Given the description of an element on the screen output the (x, y) to click on. 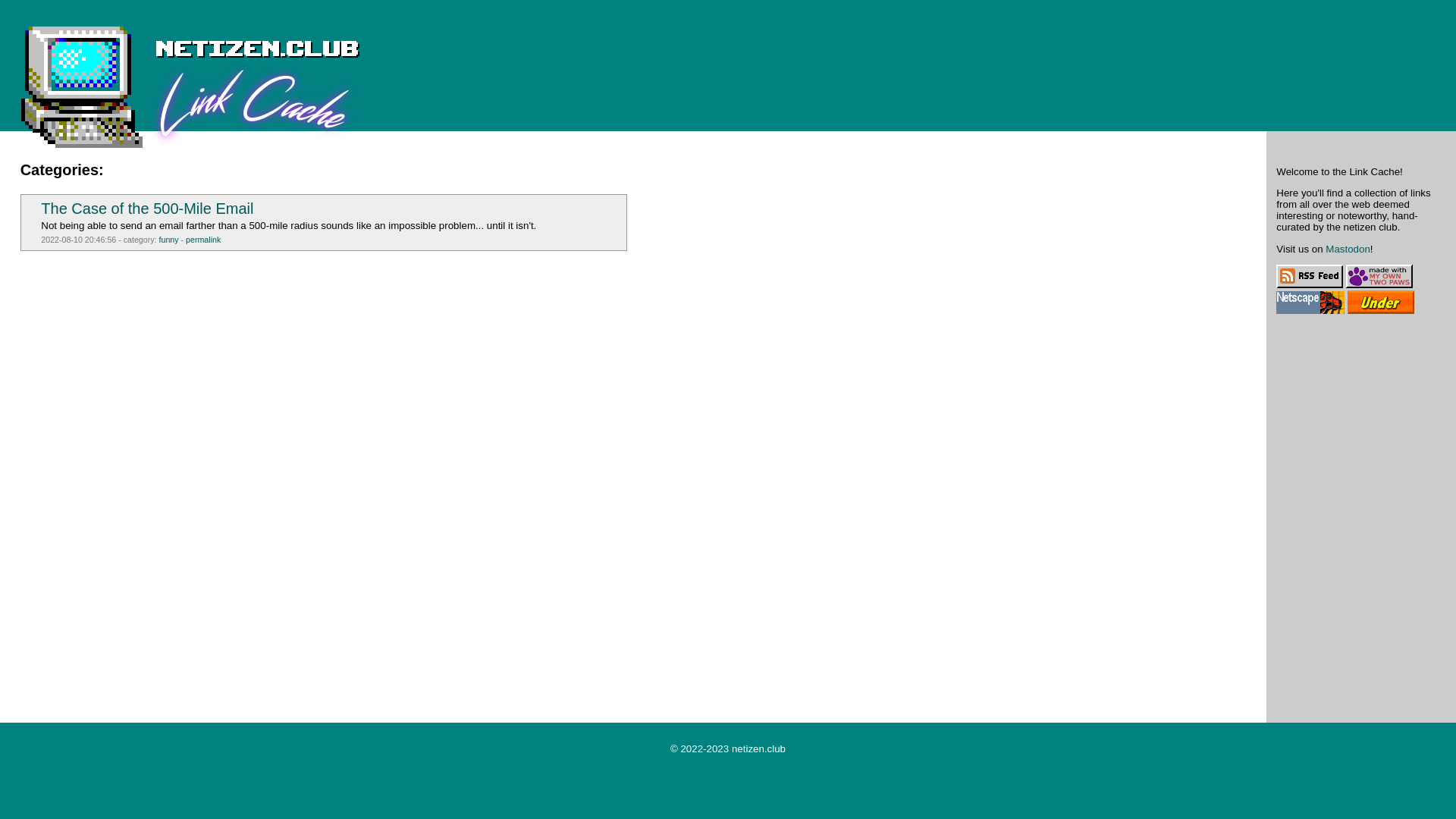
Under Construction (1380, 301)
RSS Feed (1309, 276)
Gecko now! Netscape now! Mozilla now! (1309, 302)
funny (168, 239)
made with my own two paws (1378, 276)
The Case of the 500-Mile Email (146, 208)
Mastodon (1347, 248)
netizen.club (759, 748)
permalink (203, 239)
